Given the description of an element on the screen output the (x, y) to click on. 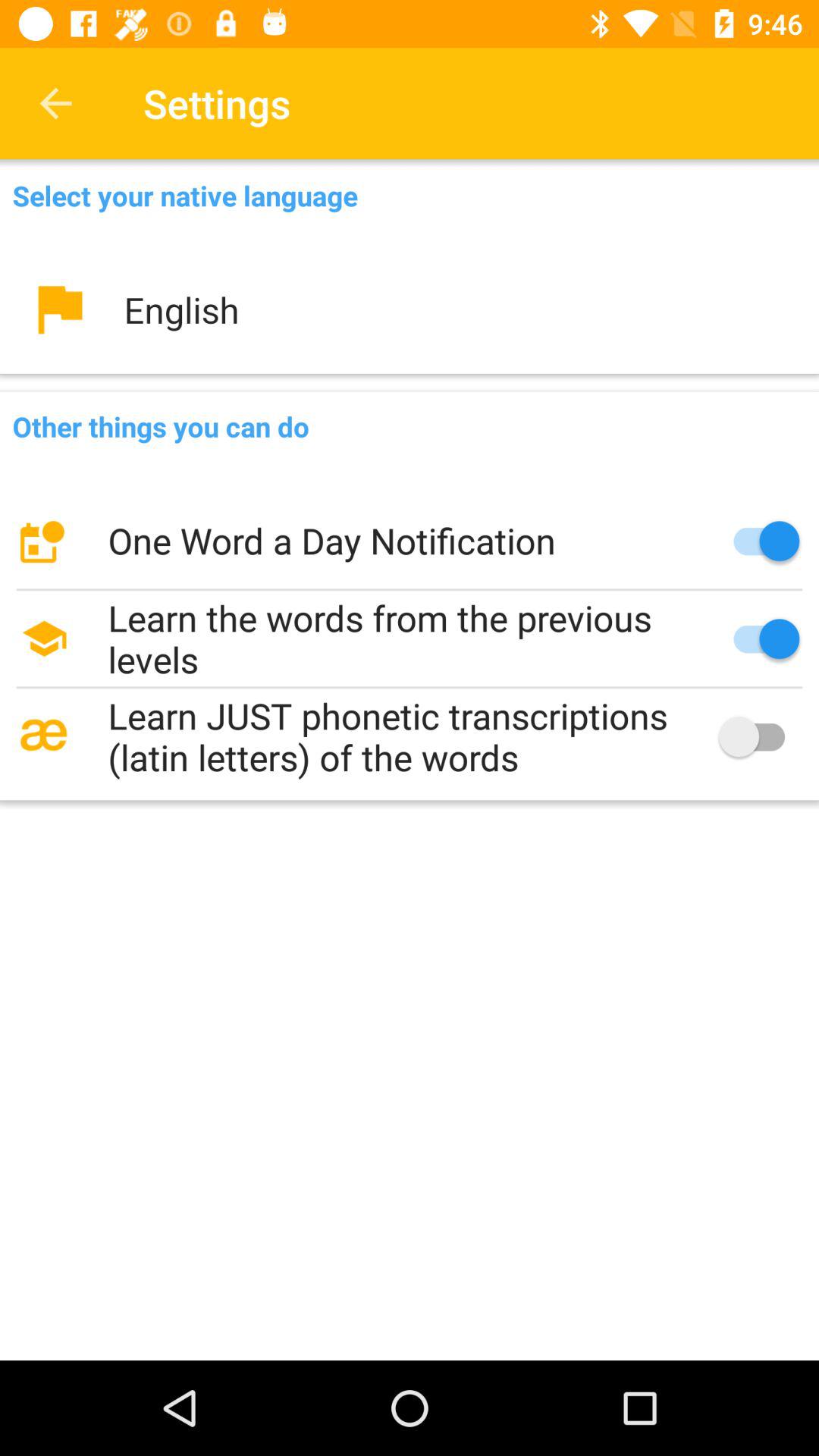
turn off english item (409, 309)
